Given the description of an element on the screen output the (x, y) to click on. 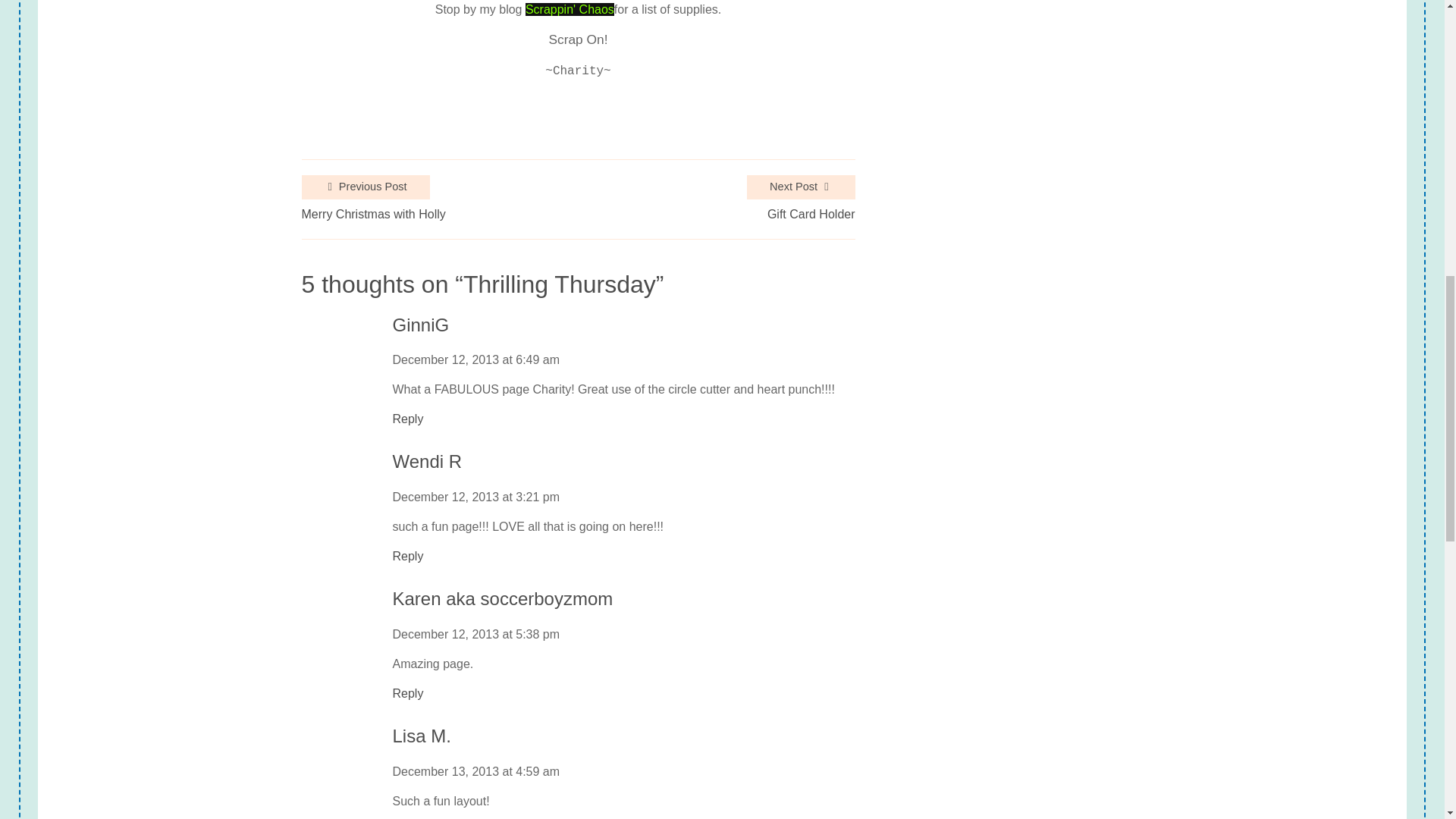
Karen aka soccerboyzmom (502, 599)
Wendi R (428, 462)
Merry Christmas with Holly (373, 214)
Reply (408, 419)
Scrappin' Chaos (569, 9)
Previous Post (365, 187)
GinniG (421, 325)
Reply (408, 556)
Gift Card Holder (811, 214)
Reply (408, 693)
Next Post (800, 187)
